Given the description of an element on the screen output the (x, y) to click on. 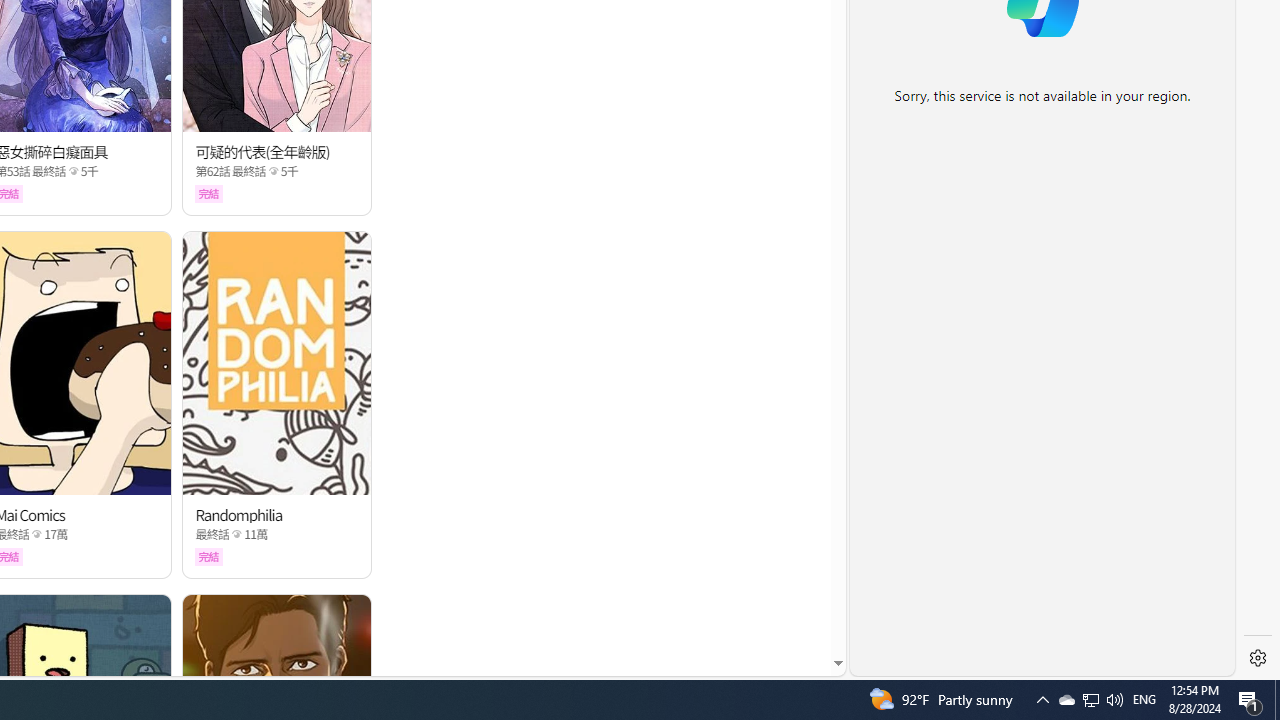
Class: epicon_starpoint (237, 534)
Settings (1258, 658)
Class: thumb_img (277, 363)
